Given the description of an element on the screen output the (x, y) to click on. 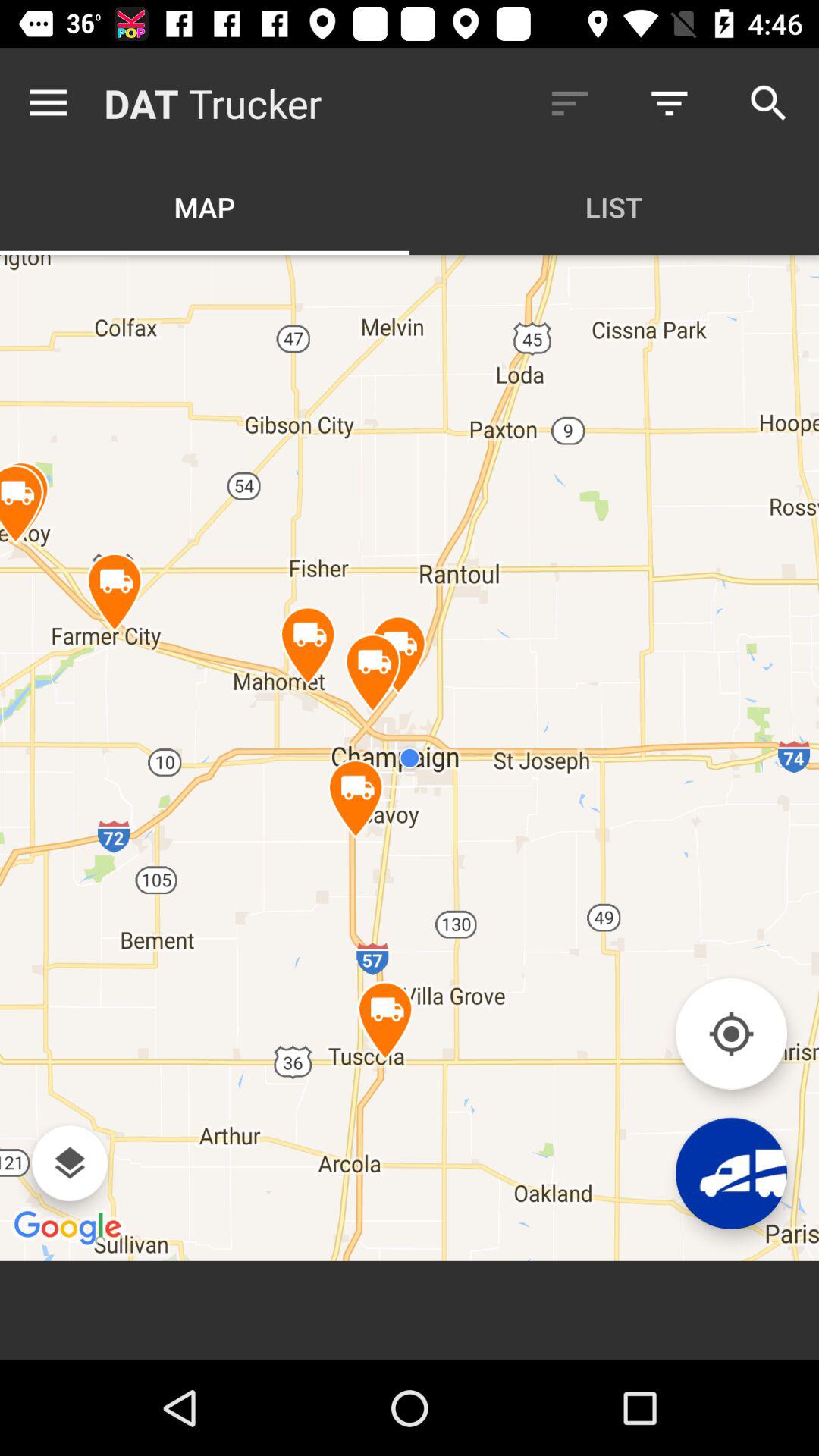
turn on the item below the map (409, 757)
